Given the description of an element on the screen output the (x, y) to click on. 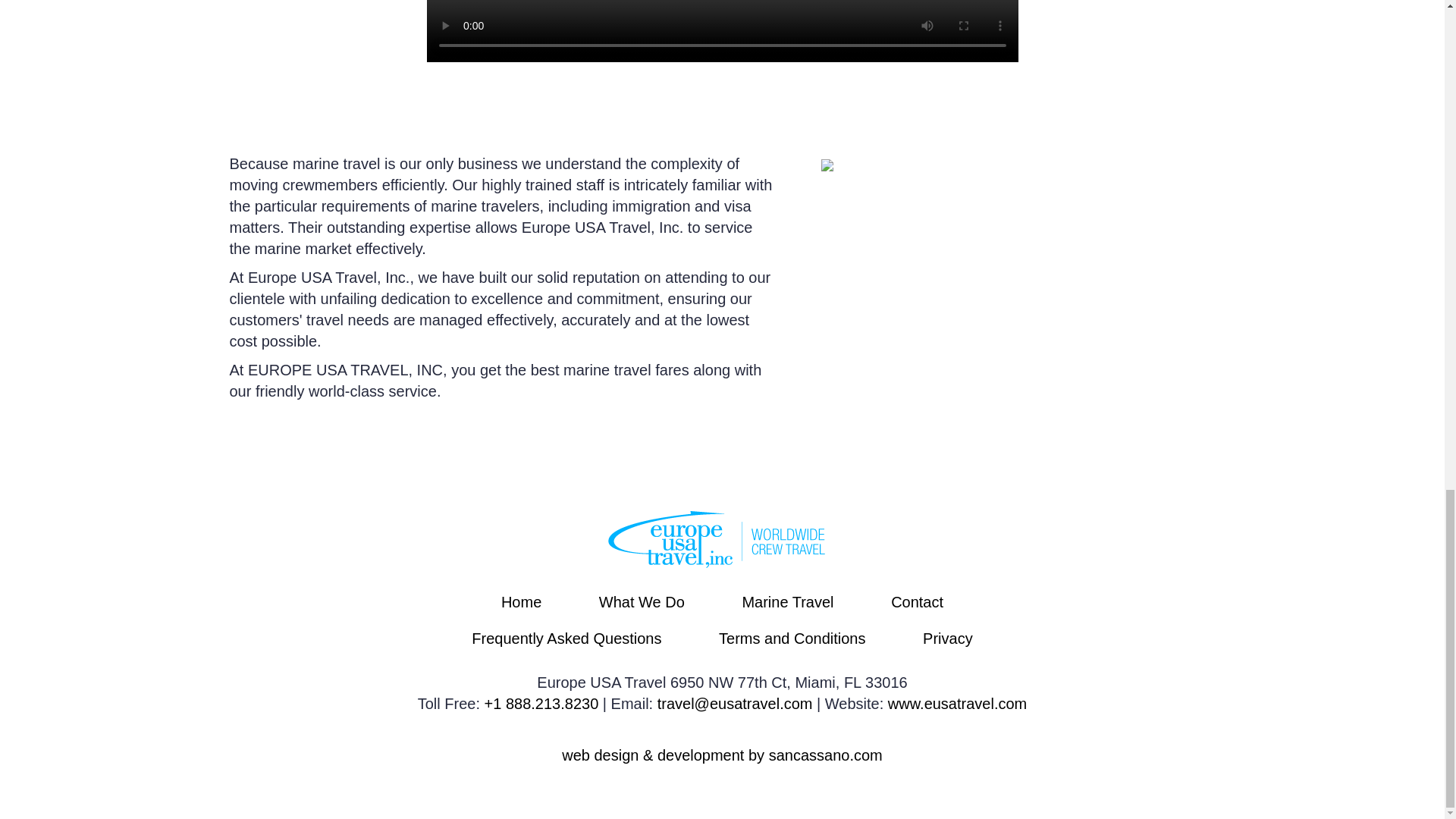
What We Do (641, 601)
Frequently Asked Questions (566, 638)
www.eusatravel.com (957, 703)
Privacy (947, 638)
Marine Travel (786, 601)
Contact (917, 601)
Terms and Conditions (791, 638)
Home (520, 601)
